Given the description of an element on the screen output the (x, y) to click on. 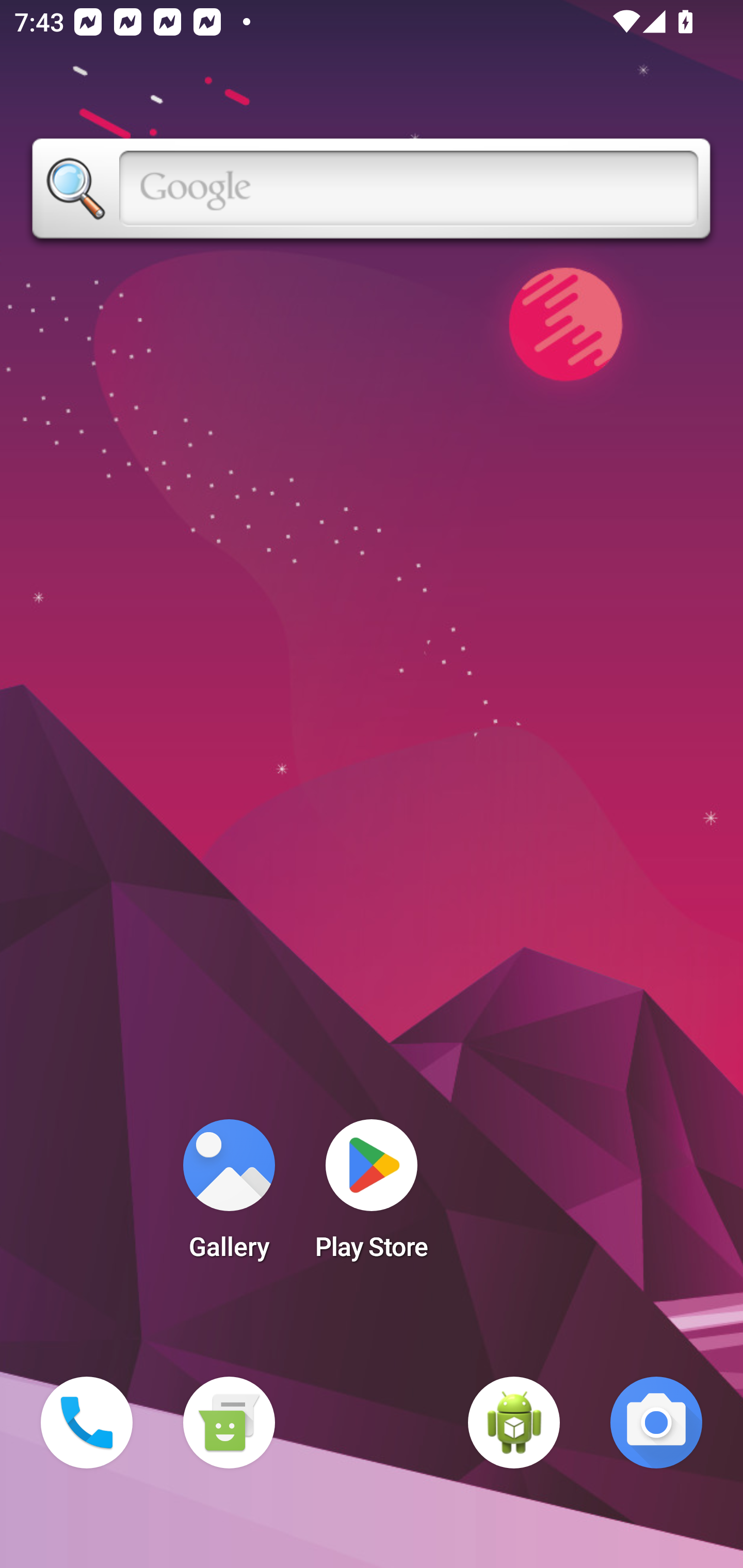
Gallery (228, 1195)
Play Store (371, 1195)
Phone (86, 1422)
Messaging (228, 1422)
WebView Browser Tester (513, 1422)
Camera (656, 1422)
